Given the description of an element on the screen output the (x, y) to click on. 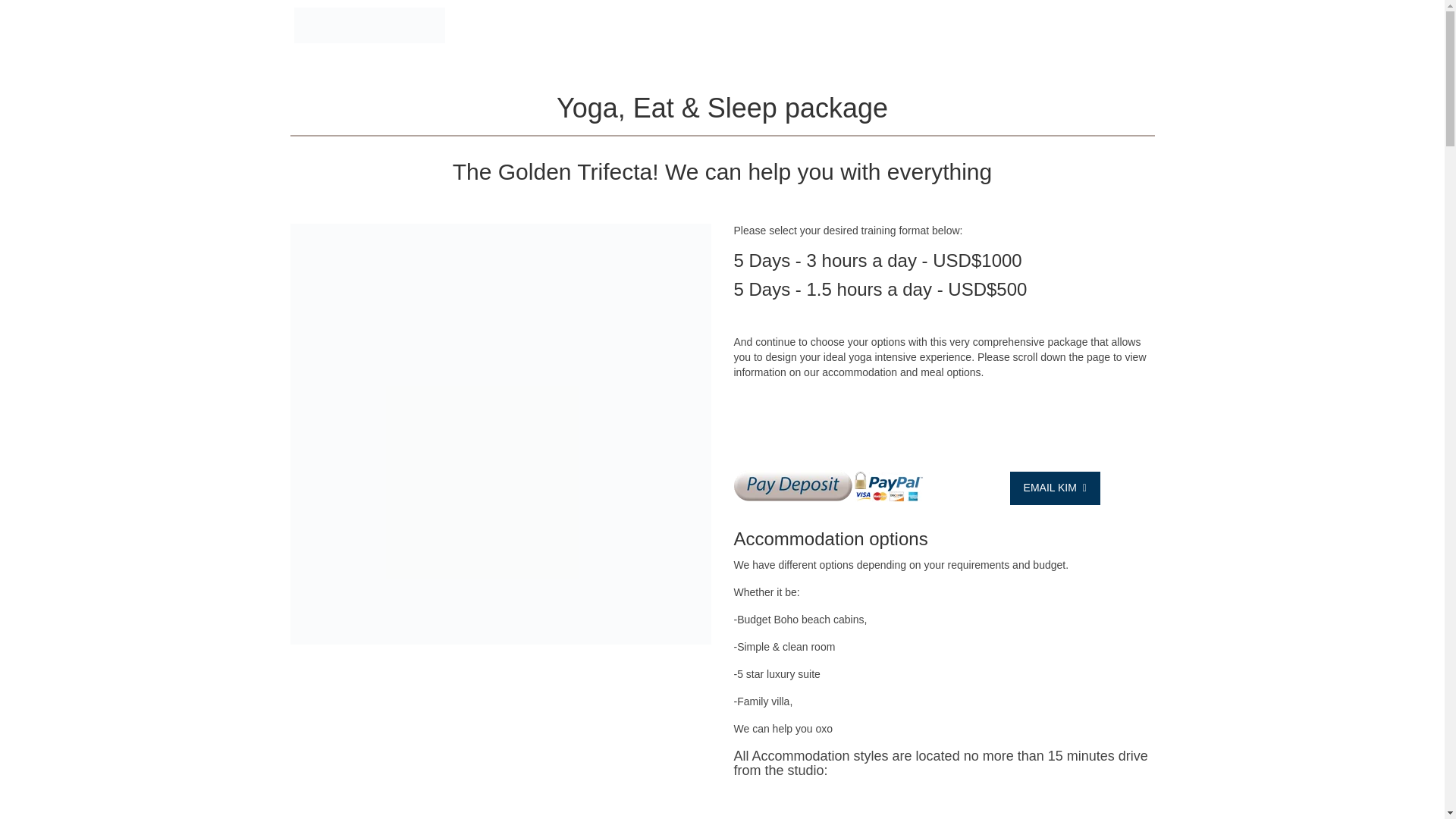
JOURNAL (1102, 27)
GROUP CLASSES (554, 27)
PODCASTS (1040, 27)
5 DAY YOGA INTENSIVES (666, 27)
HOME (486, 27)
CONTACT (494, 53)
CUSTOM PROGRAMS (784, 27)
ONLINE MEMBERSHIP (895, 27)
RETREATS (981, 27)
Search (534, 53)
Kim White yoga (369, 25)
